Given the description of an element on the screen output the (x, y) to click on. 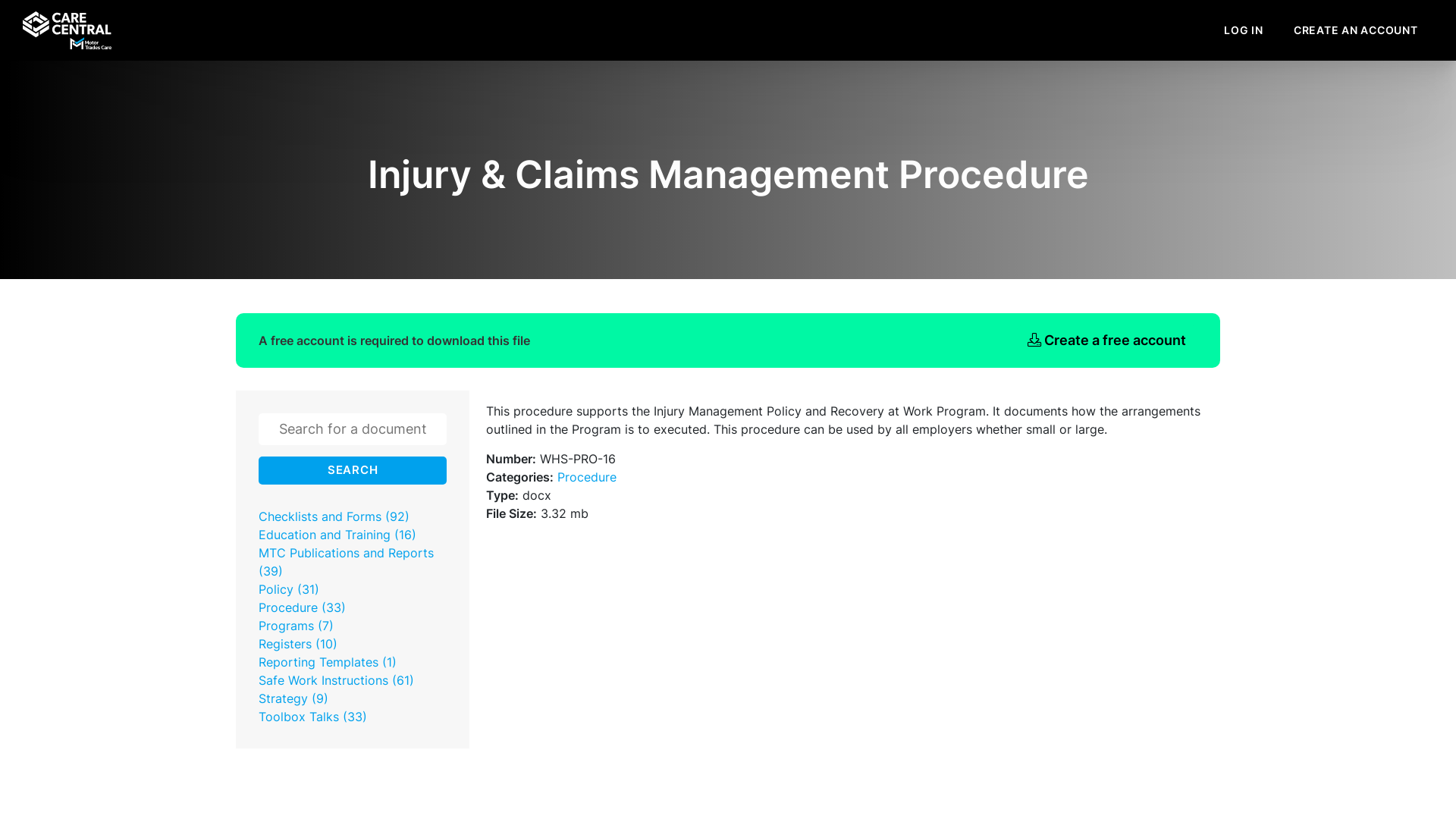
Checklists and Forms (92) Element type: text (333, 516)
Create a free account Element type: text (1106, 340)
Registers (10) Element type: text (297, 643)
Policy (31) Element type: text (288, 588)
CREATE AN ACCOUNT Element type: text (1355, 30)
LOG IN Element type: text (1243, 30)
Strategy (9) Element type: text (293, 698)
Procedure (33) Element type: text (301, 607)
Education and Training (16) Element type: text (337, 534)
Procedure Element type: text (586, 475)
MTC Publications and Reports (39) Element type: text (345, 561)
Toolbox Talks (33) Element type: text (312, 716)
Programs (7) Element type: text (295, 625)
SEARCH Element type: text (352, 470)
Reporting Templates (1) Element type: text (327, 661)
Safe Work Instructions (61) Element type: text (336, 679)
